Given the description of an element on the screen output the (x, y) to click on. 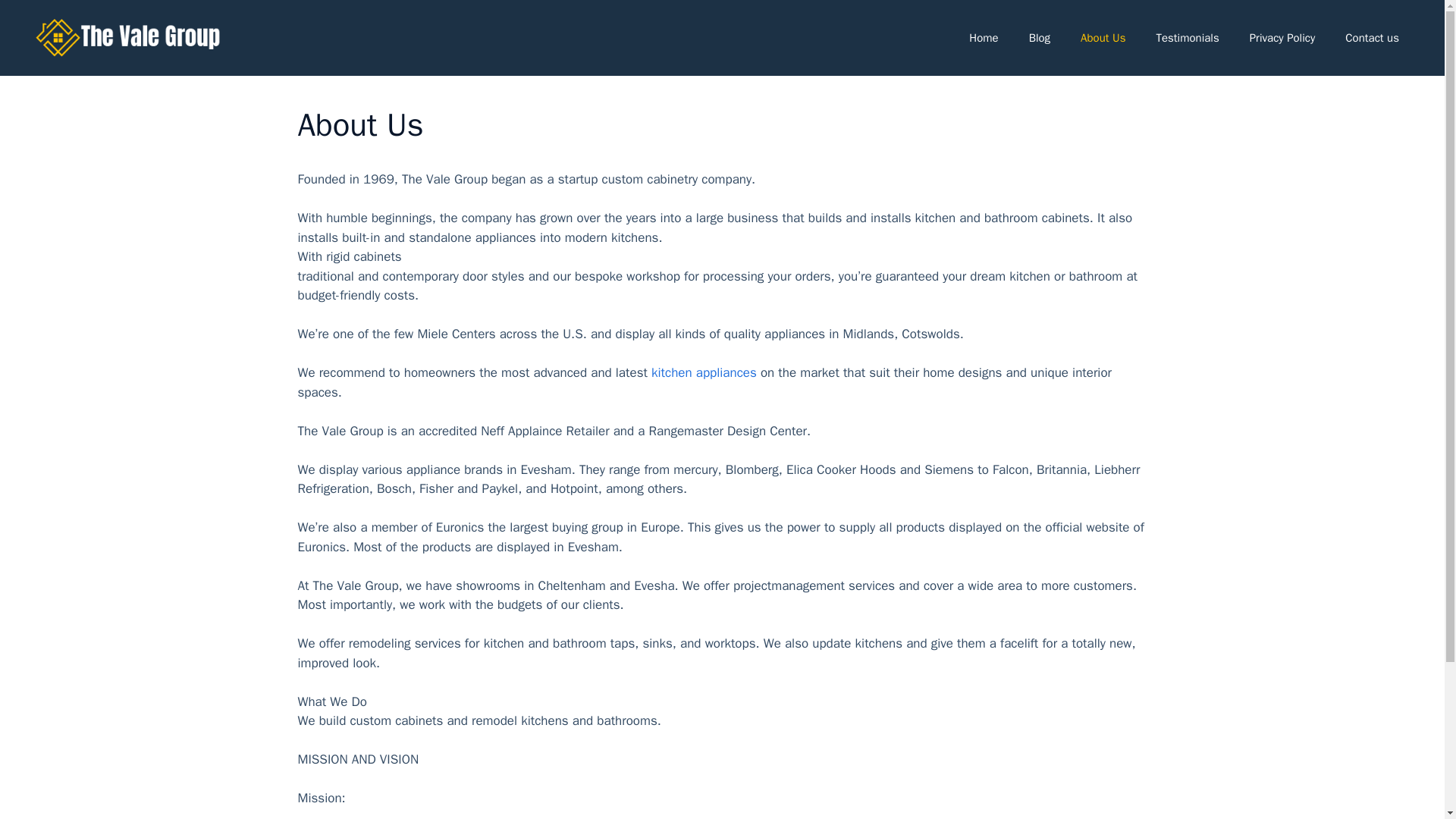
Testimonials (1186, 37)
kitchen appliances (703, 372)
Home (983, 37)
Contact us (1371, 37)
About Us (1102, 37)
Blog (1039, 37)
Privacy Policy (1282, 37)
